Given the description of an element on the screen output the (x, y) to click on. 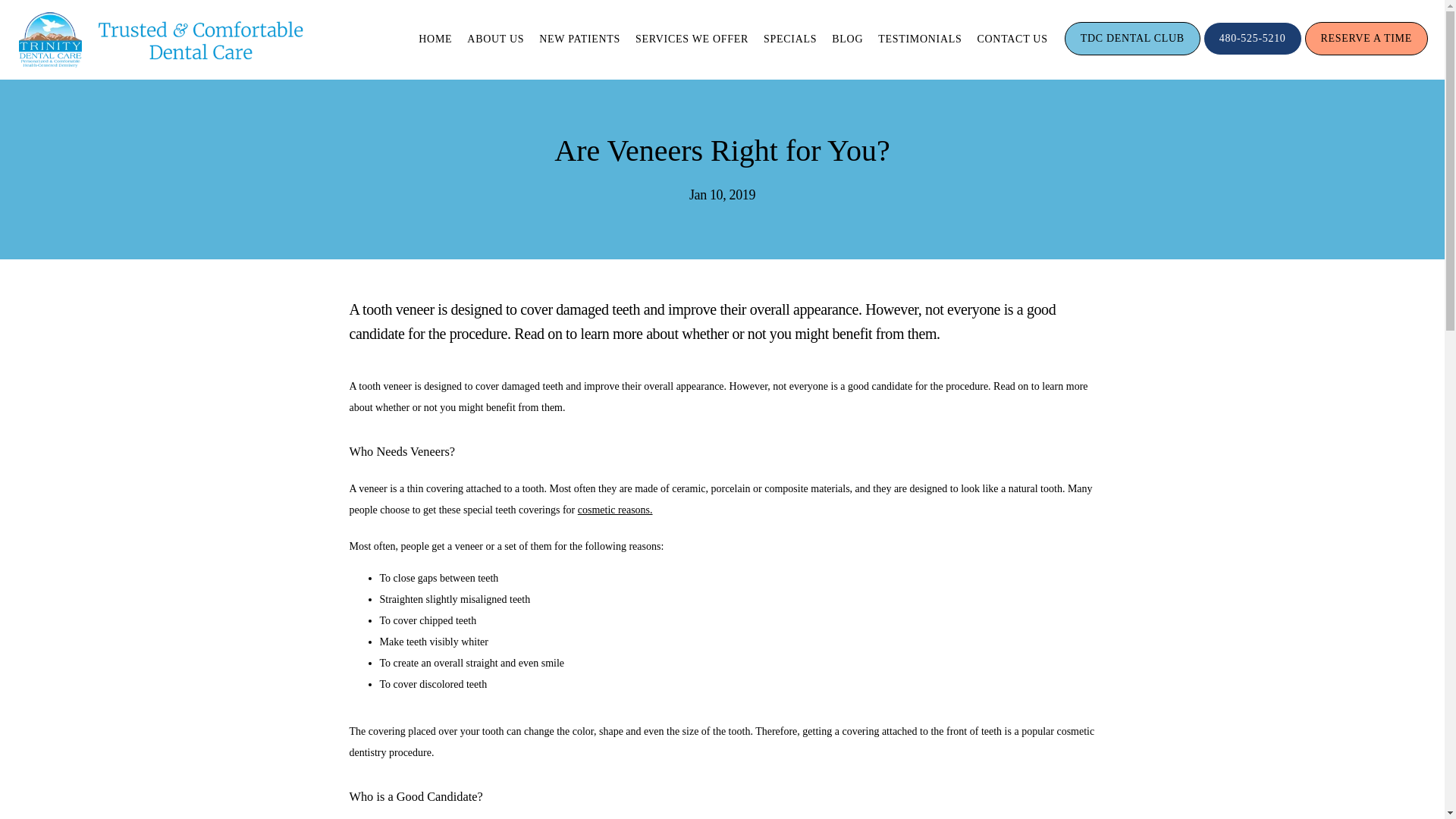
cosmetic reasons. (615, 509)
480-525-5210 (1252, 53)
CONTACT US (1011, 39)
SERVICES WE OFFER (691, 39)
TDC DENTAL CLUB (1132, 53)
NEW PATIENTS (579, 39)
BLOG (847, 39)
RESERVE A TIME (1366, 53)
TESTIMONIALS (918, 39)
HOME (435, 39)
SPECIALS (789, 39)
